Given the description of an element on the screen output the (x, y) to click on. 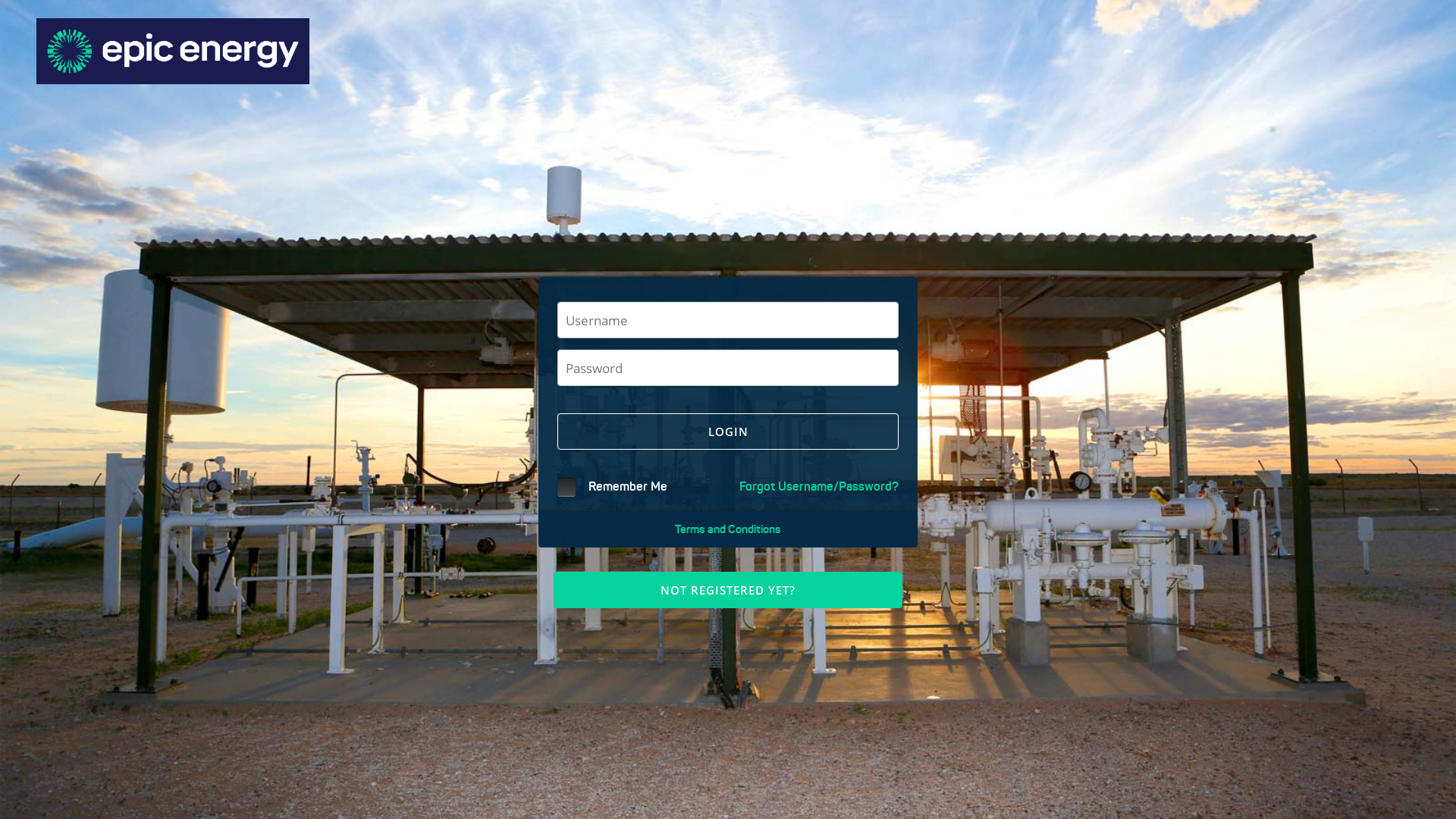
LOGIN Element type: text (727, 431)
Terms and Conditions Element type: text (727, 529)
Forgot Username/Password? Element type: text (818, 485)
NOT REGISTERED YET? Element type: text (727, 589)
